Given the description of an element on the screen output the (x, y) to click on. 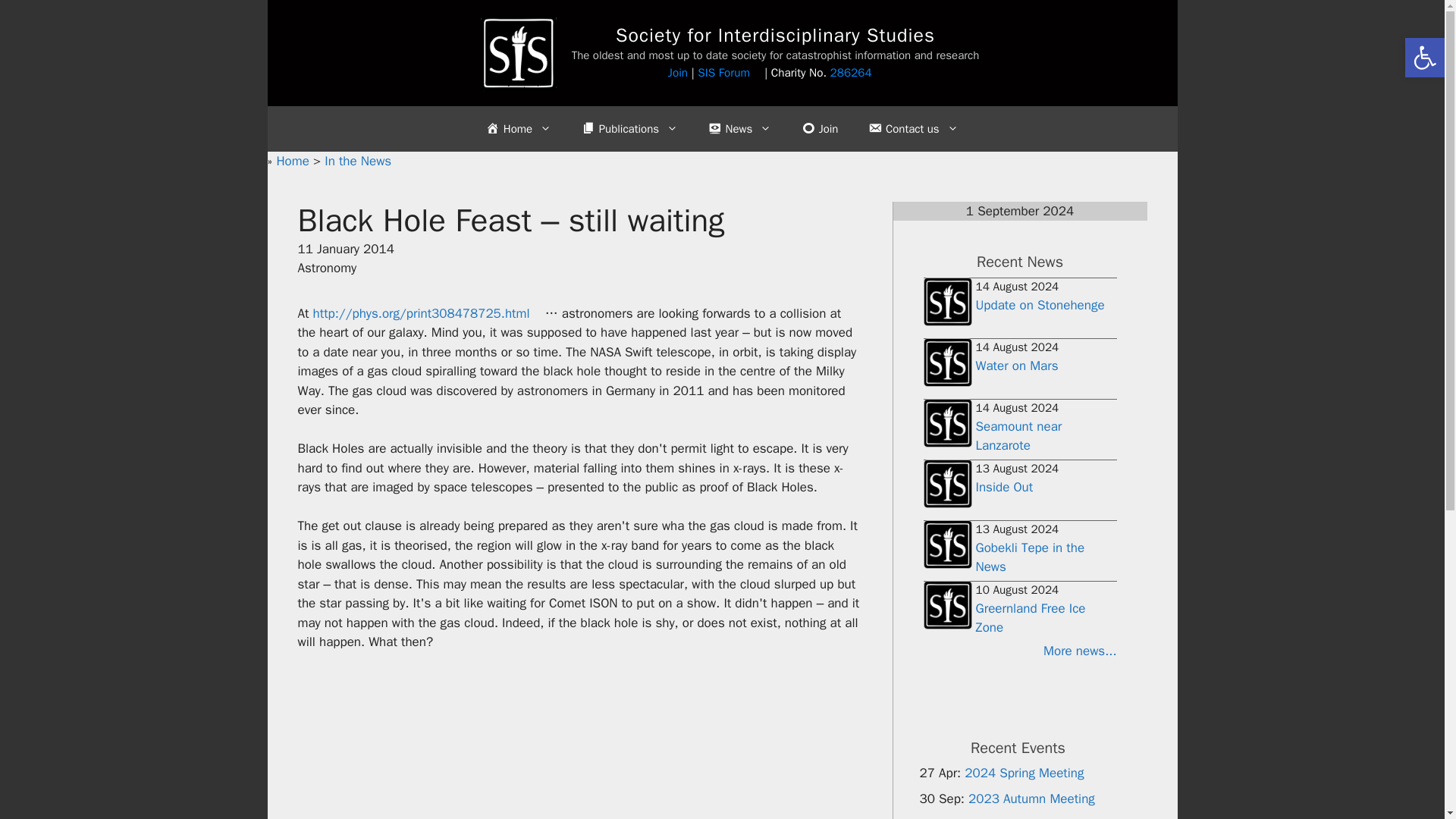
Accessibility Tools (1424, 57)
Home (518, 128)
News (739, 128)
Contact us (912, 128)
Publications (629, 128)
Join (819, 128)
Join (677, 72)
SIS Forum (728, 72)
286264 (856, 72)
Home (294, 160)
